Given the description of an element on the screen output the (x, y) to click on. 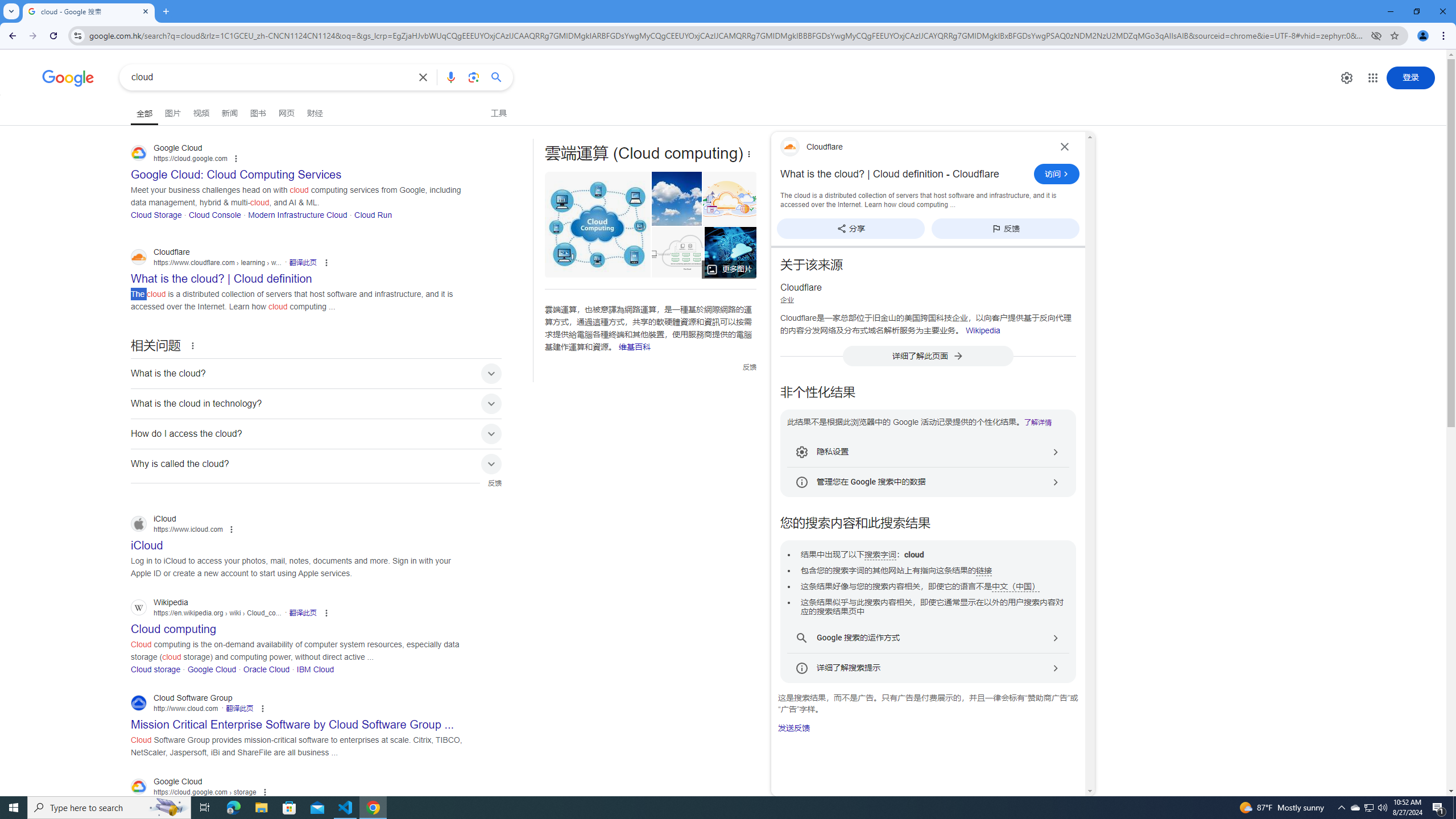
Why is called the cloud? (316, 463)
What is the cloud? (316, 373)
 iCloud iCloud https://www.icloud.com (147, 541)
What is the cloud? | Cloud definition - Cloudflare (903, 173)
